Given the description of an element on the screen output the (x, y) to click on. 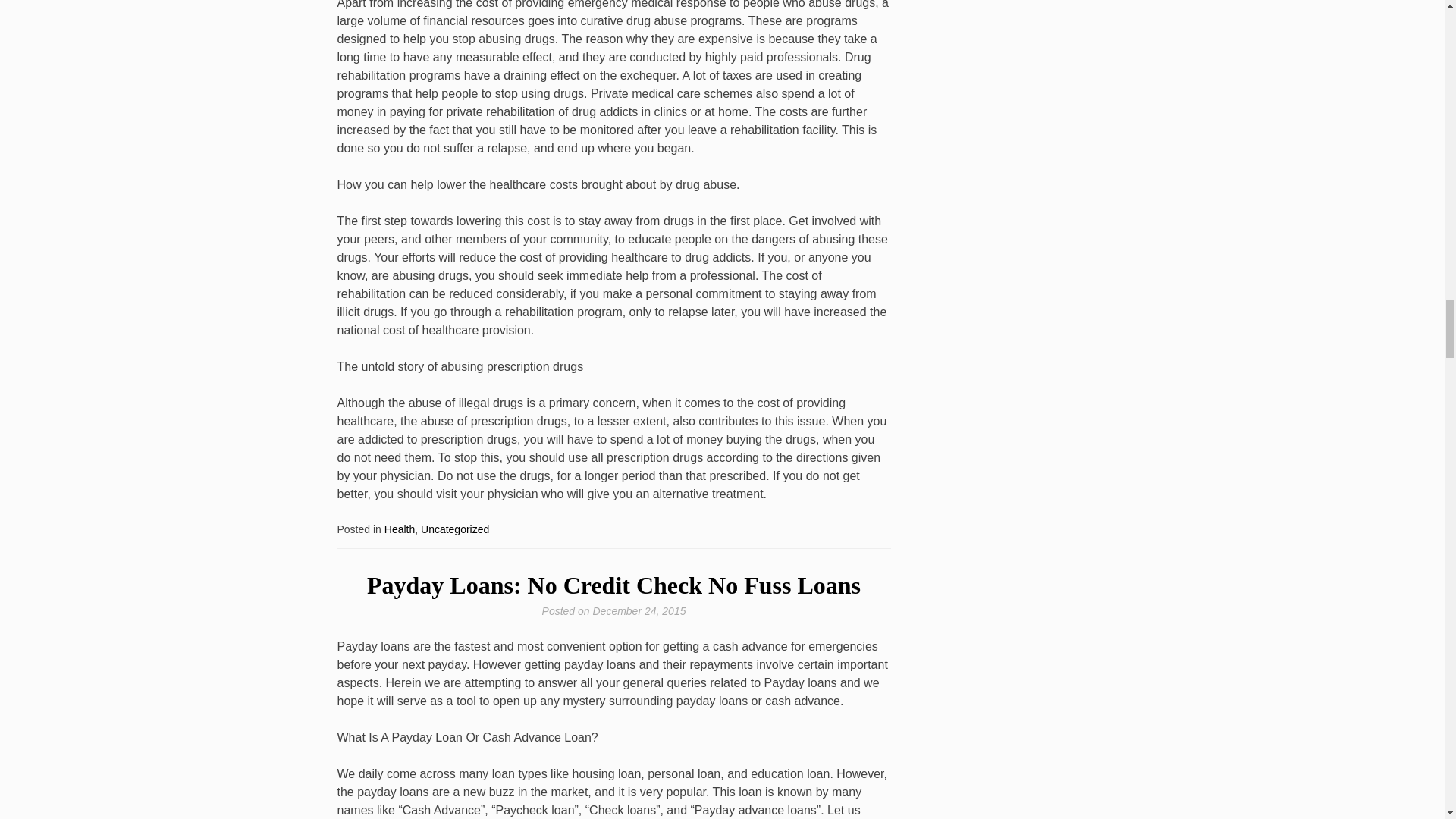
December 24, 2015 (638, 611)
Payday Loans: No Credit Check No Fuss Loans (613, 584)
Health (399, 529)
Uncategorized (454, 529)
